Given the description of an element on the screen output the (x, y) to click on. 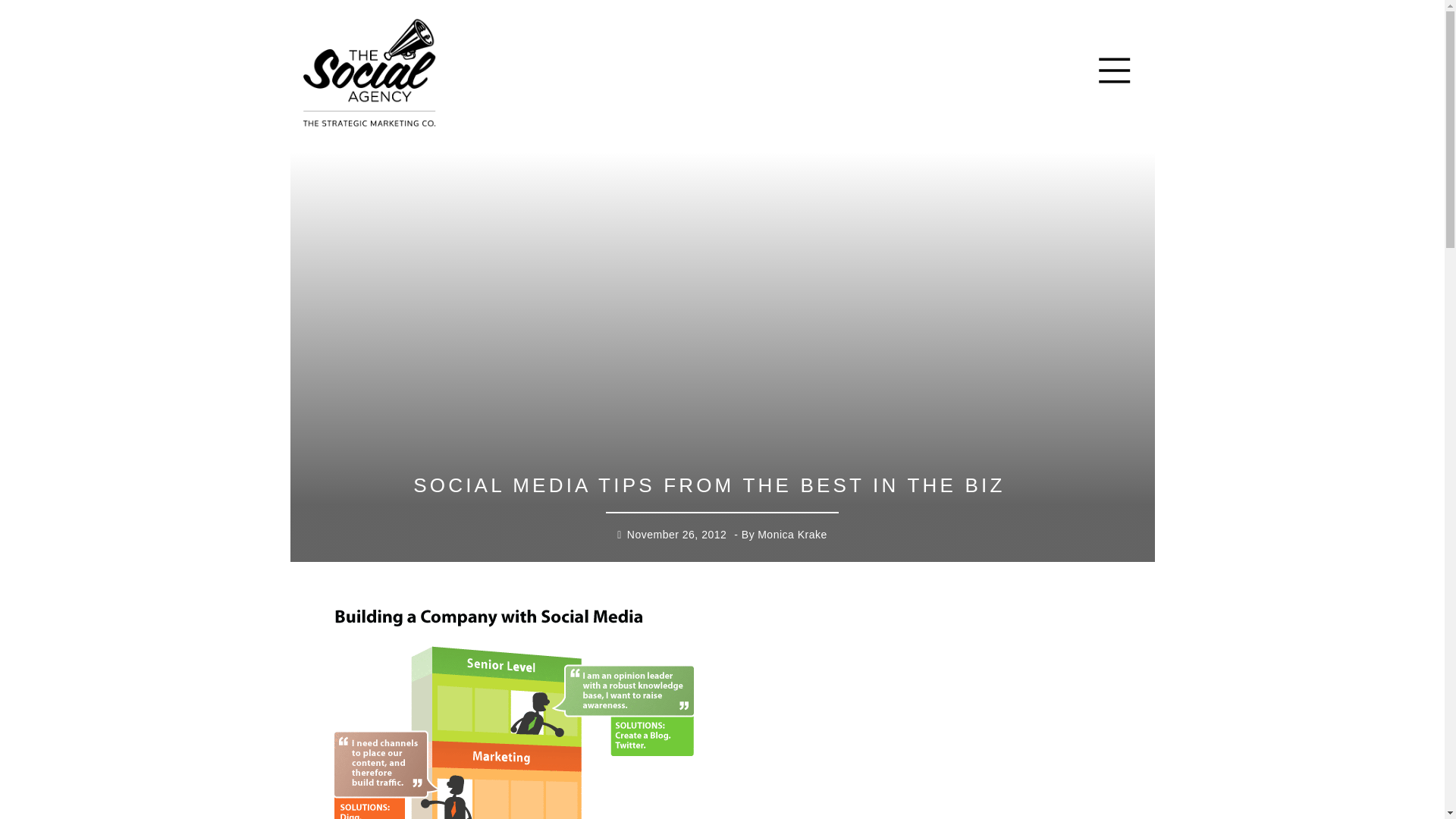
November 26, 2012 (676, 535)
social-media-building (513, 709)
